Given the description of an element on the screen output the (x, y) to click on. 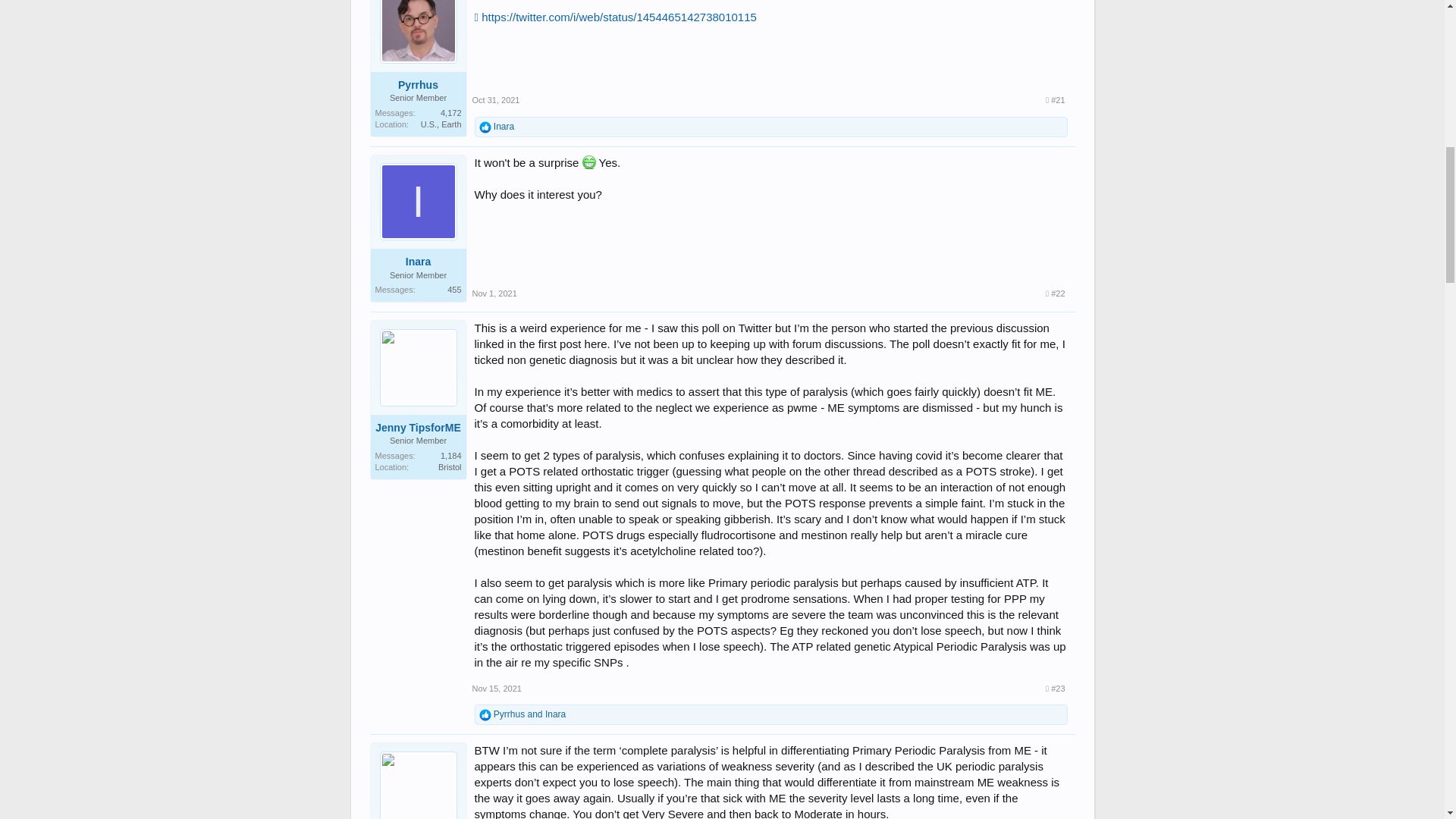
Like (485, 715)
Nov 15, 2021 at 5:08 AM (496, 687)
Oct 31, 2021 at 6:01 PM (495, 99)
Like (485, 127)
Big Grin    :D (588, 161)
Nov 1, 2021 at 4:23 AM (493, 293)
